Given the description of an element on the screen output the (x, y) to click on. 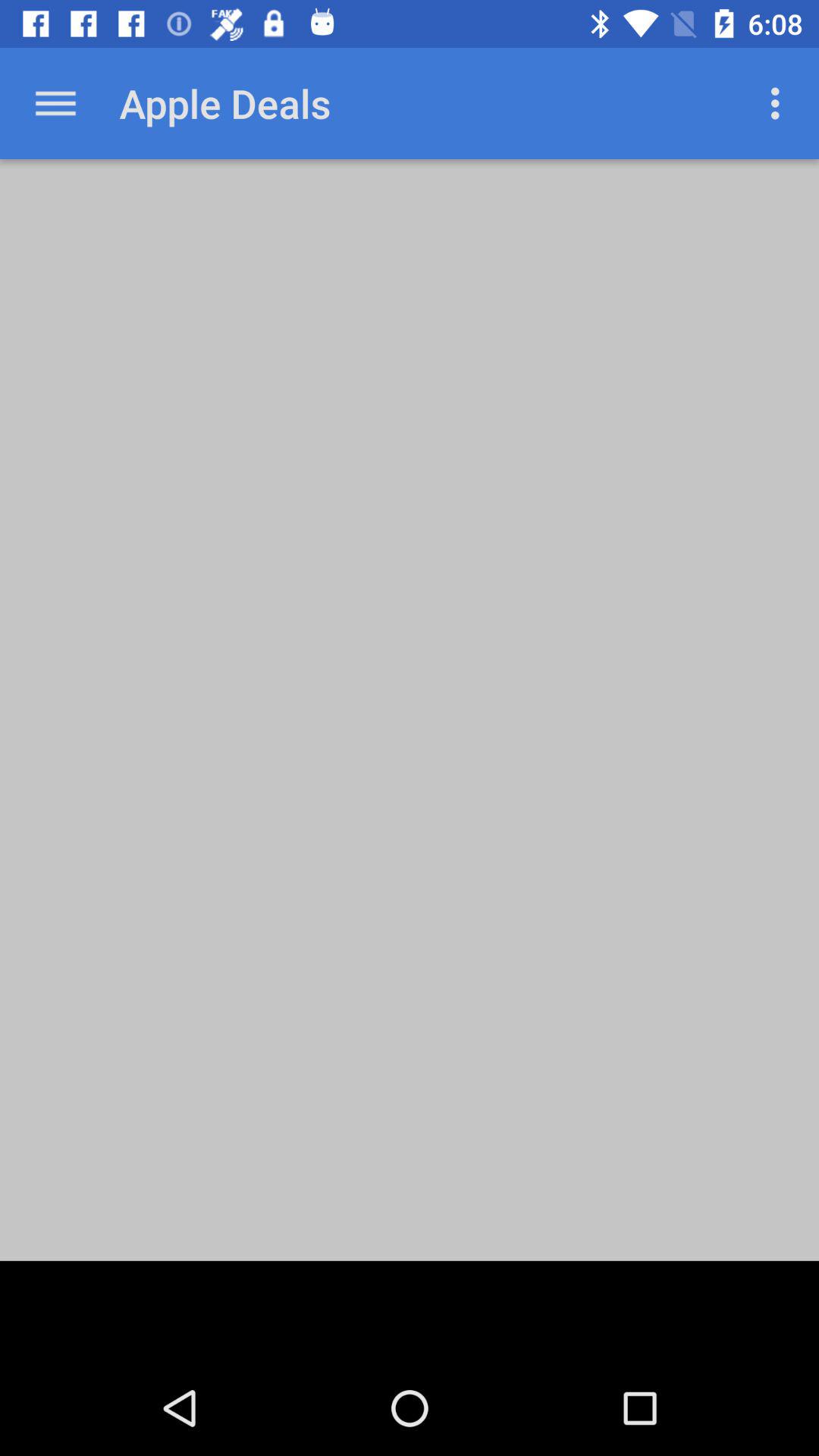
turn off item at the center (409, 709)
